Given the description of an element on the screen output the (x, y) to click on. 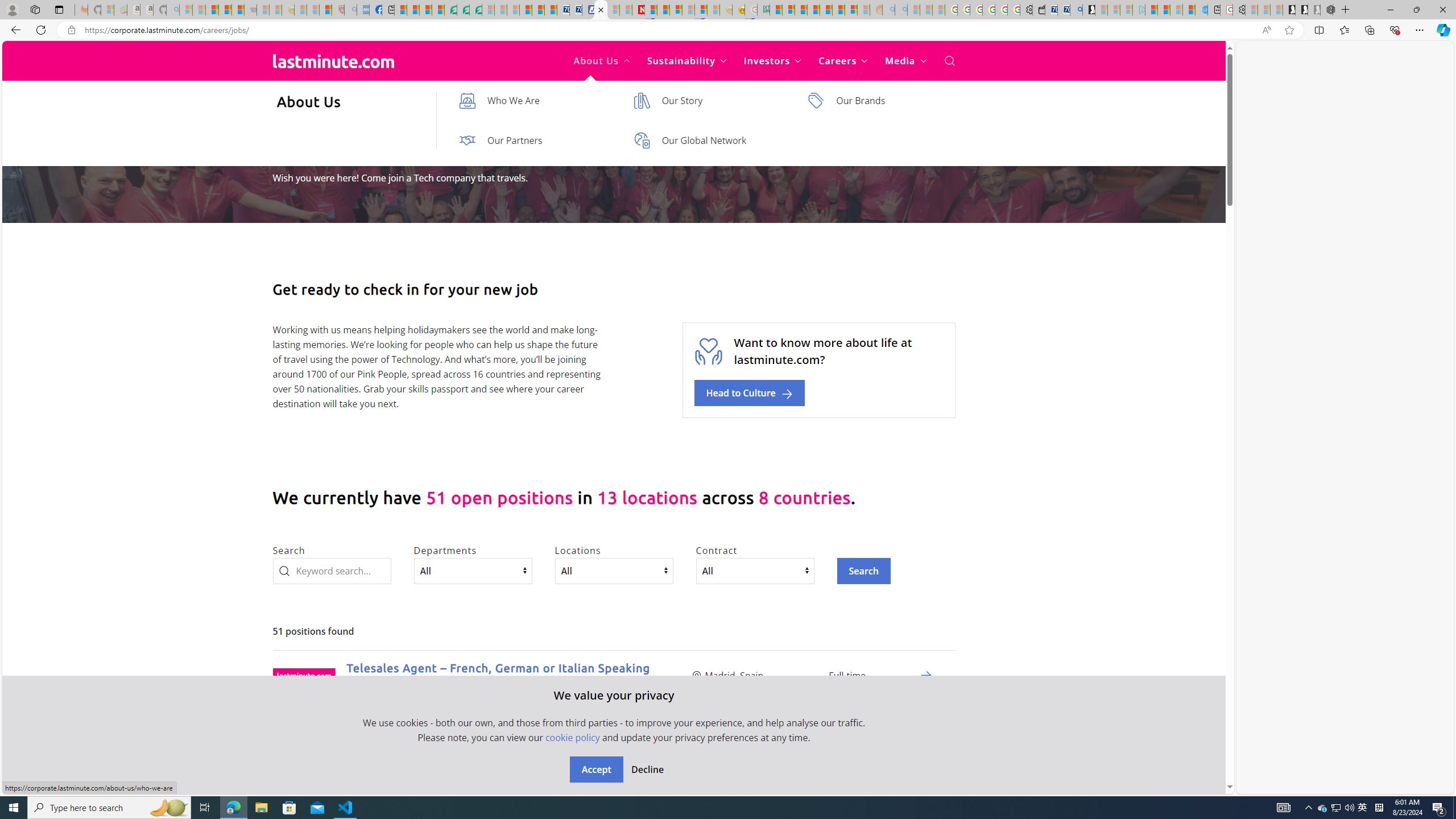
Home | Sky Blue Bikes - Sky Blue Bikes (1201, 9)
LendingTree - Compare Lenders (450, 9)
Nordace - Nordace Siena Is Not An Ordinary Backpack (1327, 9)
Sustainability (686, 60)
Cheap Car Rentals - Save70.com (1063, 9)
MSNBC - MSN (775, 9)
Local - MSN (325, 9)
Terms of Use Agreement (463, 9)
Back to home (333, 60)
Recipes - MSN - Sleeping (300, 9)
